Given the description of an element on the screen output the (x, y) to click on. 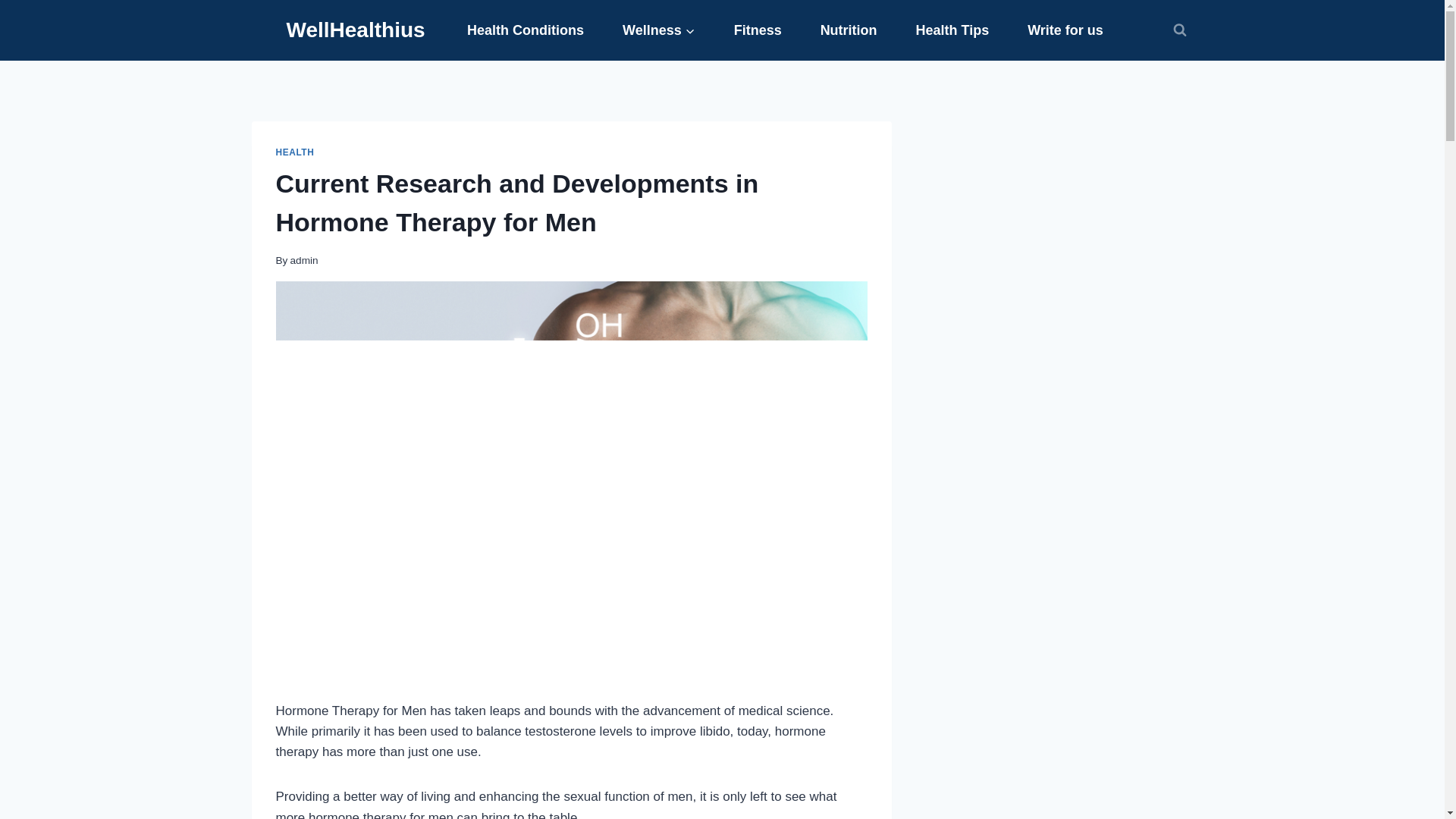
Wellness (659, 30)
WellHealthius (355, 30)
Health Tips (952, 30)
Fitness (757, 30)
Write for us (1065, 30)
Nutrition (848, 30)
HEALTH (295, 152)
Health Conditions (526, 30)
